Given the description of an element on the screen output the (x, y) to click on. 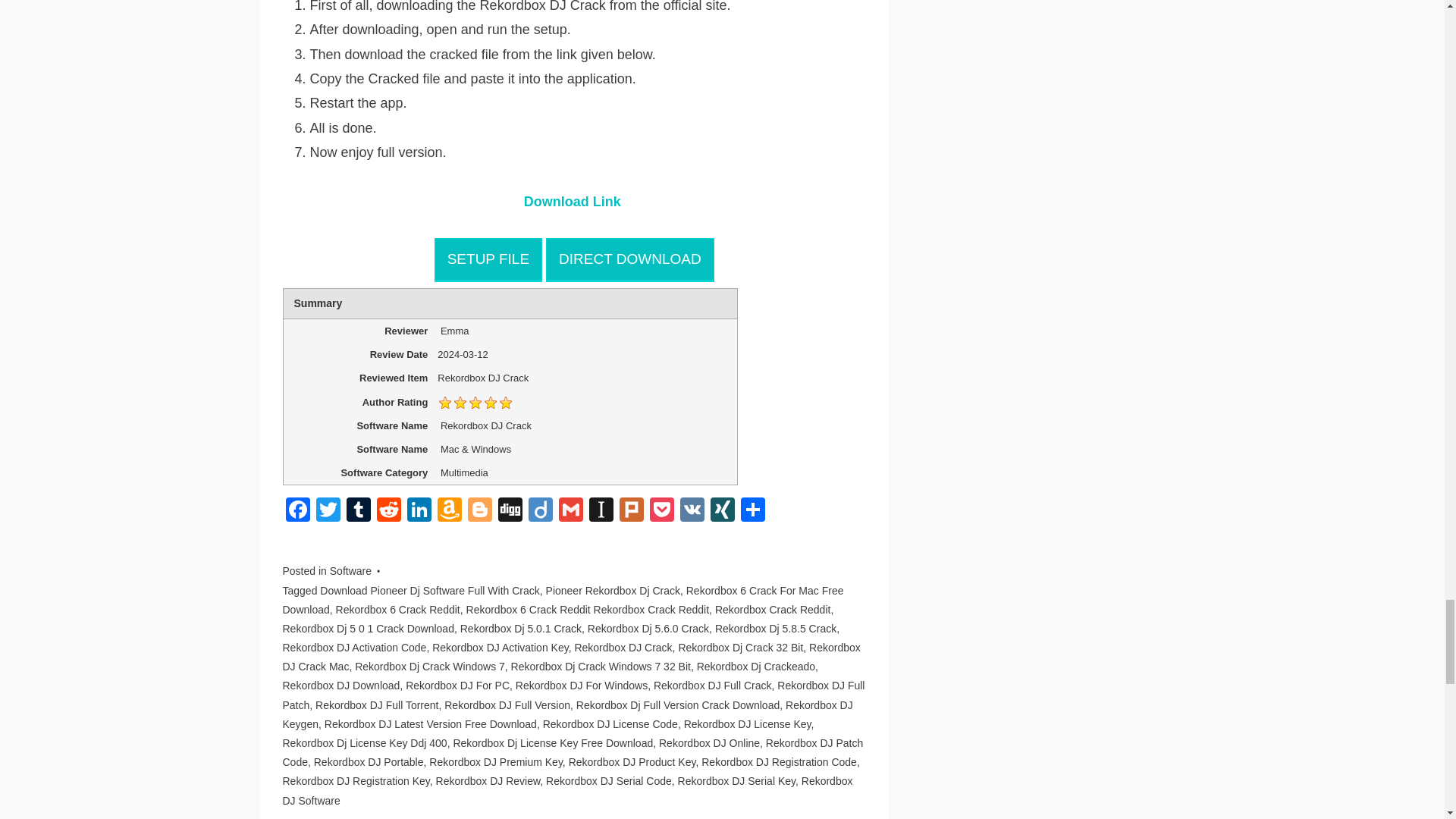
Blogger (479, 511)
SETUP FILE DIRECT DOWNLOAD (573, 258)
Instapaper (600, 511)
Gmail (569, 511)
Blogger (479, 511)
Amazon Wish List (448, 511)
Plurk (630, 511)
VK (691, 511)
Tumblr (357, 511)
VK (691, 511)
Tumblr (357, 511)
Pocket (661, 511)
Download Link (572, 201)
Pocket (661, 511)
DIRECT DOWNLOAD (630, 259)
